Given the description of an element on the screen output the (x, y) to click on. 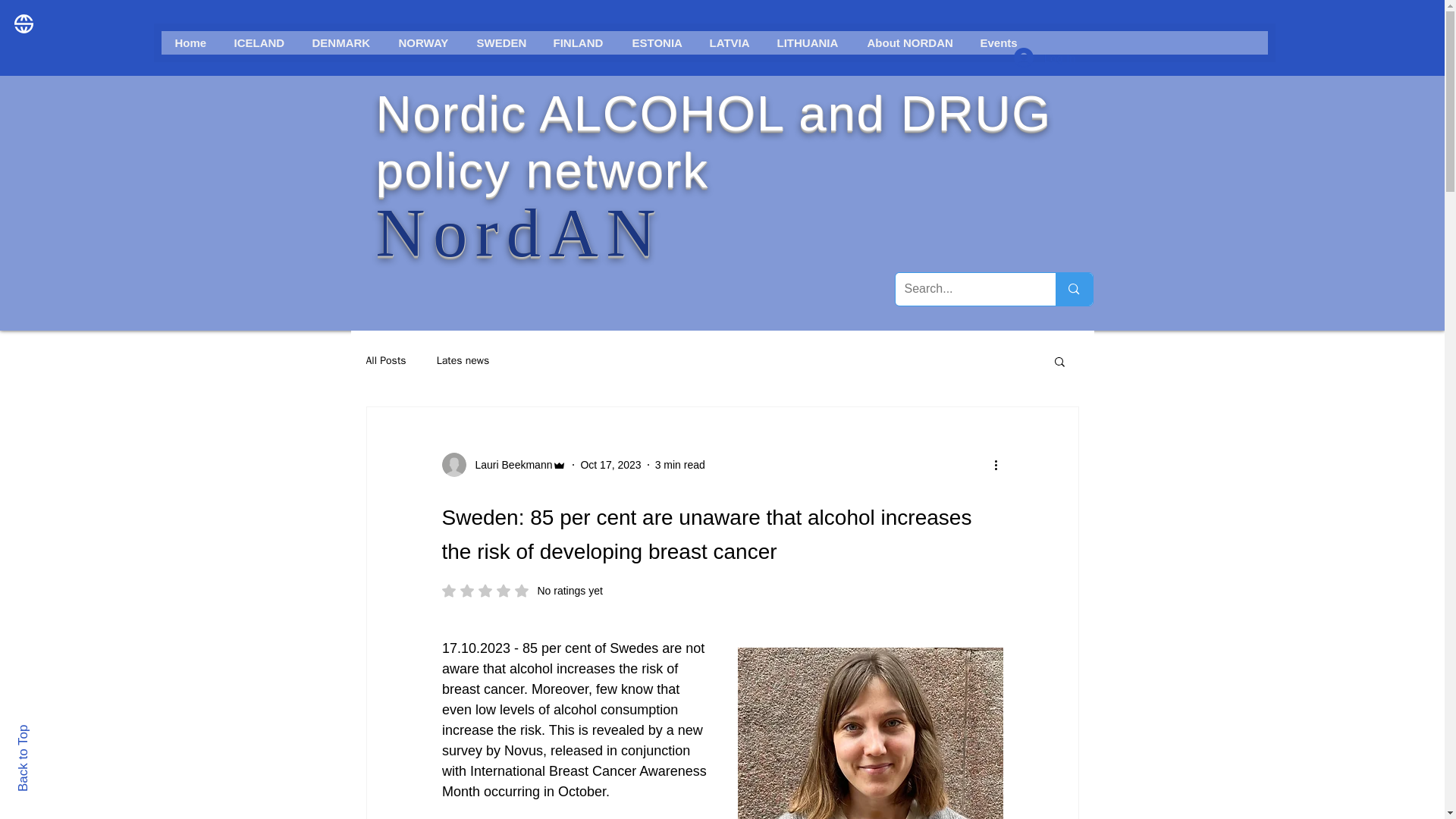
DENMARK (341, 42)
Home (191, 42)
3 min read (679, 463)
ICELAND (259, 42)
Lauri Beekmann (508, 464)
NORWAY (424, 42)
Oct 17, 2023 (609, 463)
